Given the description of an element on the screen output the (x, y) to click on. 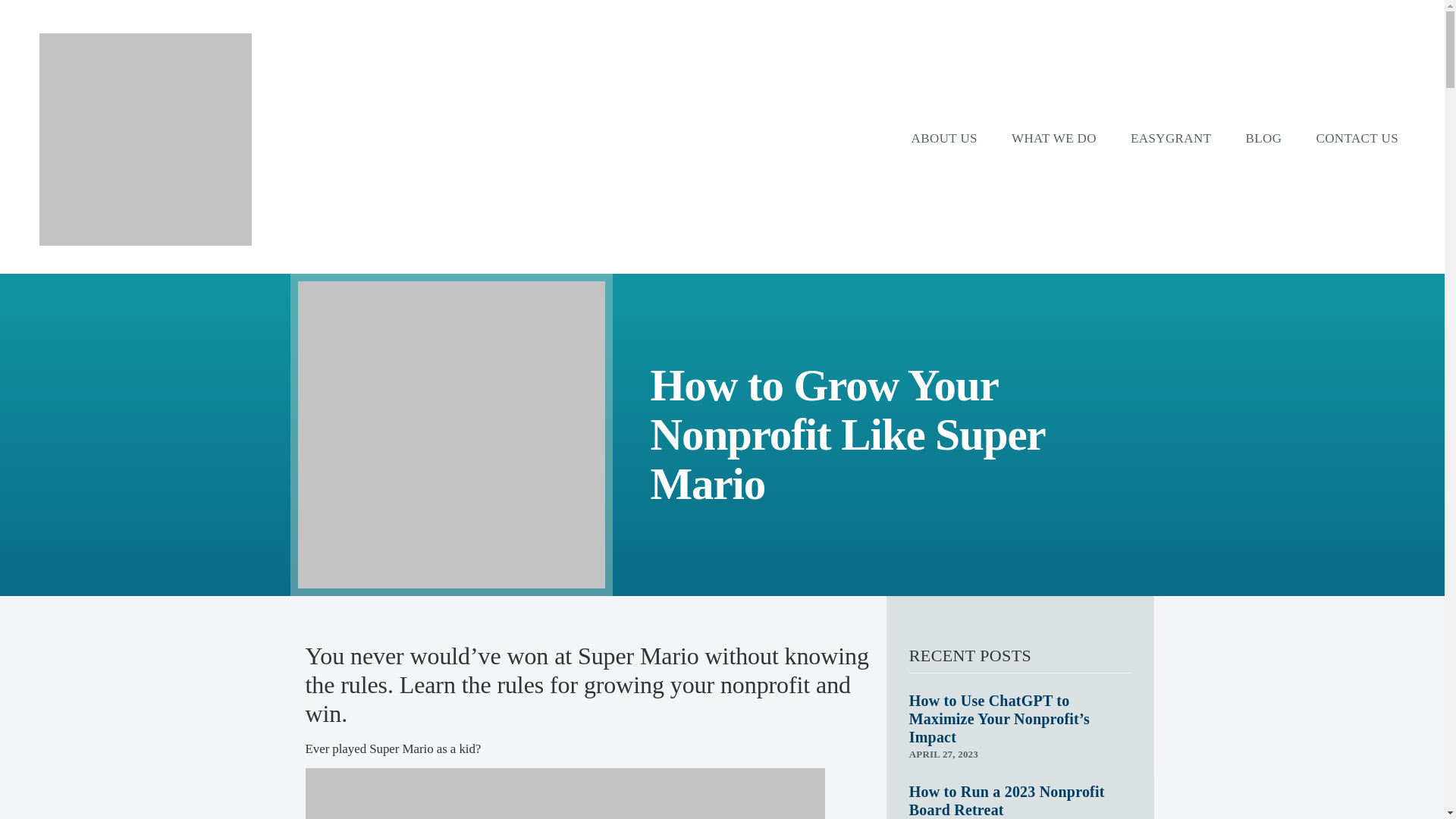
WHAT WE DO (1053, 139)
CONTACT US (1356, 139)
ABOUT US (944, 139)
EASYGRANT (1170, 139)
How to Run a 2023 Nonprofit Board Retreat (1006, 800)
BLOG (1263, 139)
